Given the description of an element on the screen output the (x, y) to click on. 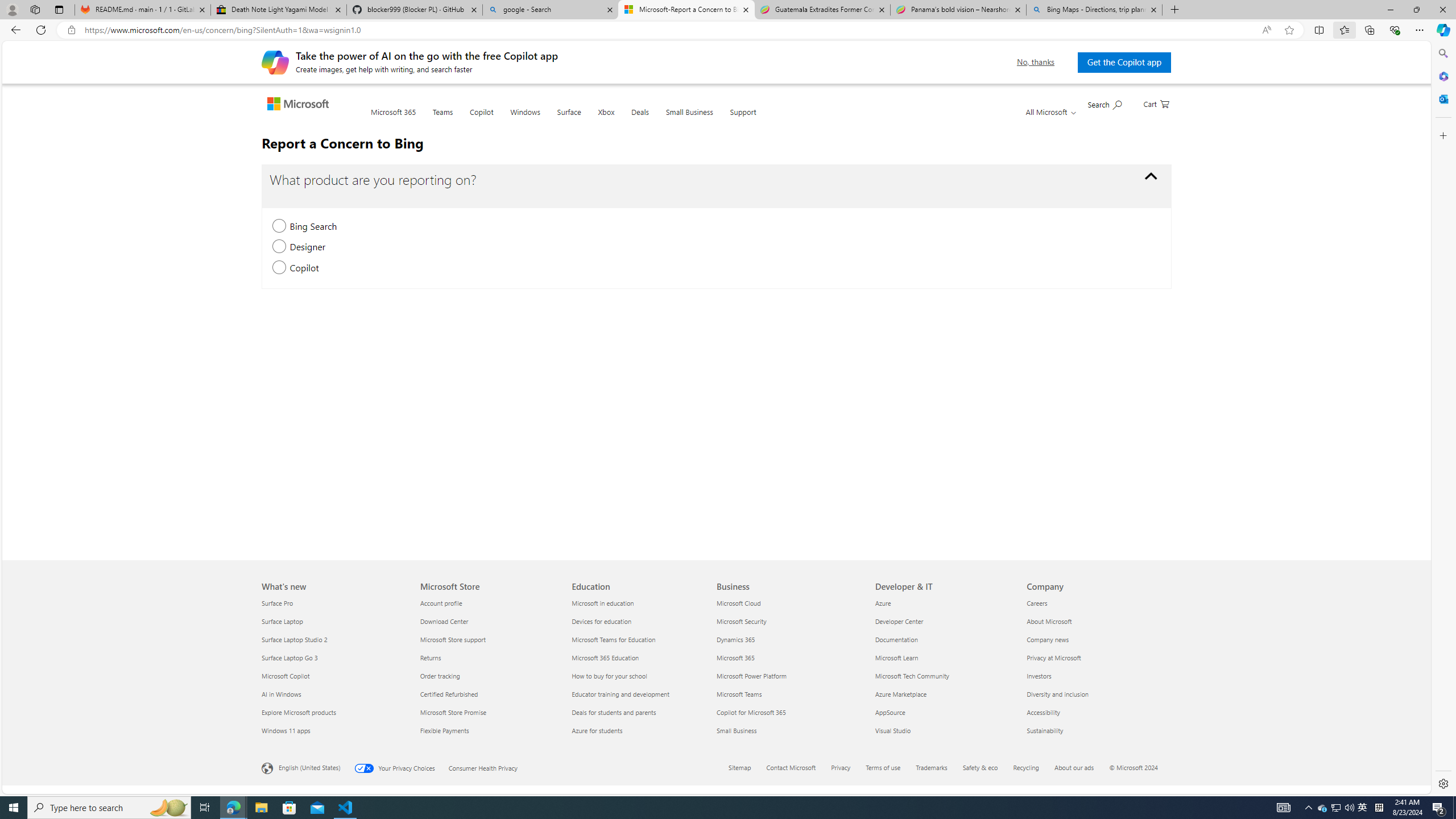
Certified Refurbished Microsoft Store (449, 693)
What product are you reporting on? no option selected (1150, 175)
Copilot for Microsoft 365 Business (751, 711)
Small Business (788, 730)
Windows (524, 118)
AI in Windows (334, 693)
Microsoft (300, 105)
Terms of use (890, 768)
Diversity and inclusion Company (1057, 693)
Sustainability Company (1044, 729)
AI in Windows What's new (281, 693)
Returns (489, 657)
Copilot (480, 118)
Visual Studio (944, 730)
